Given the description of an element on the screen output the (x, y) to click on. 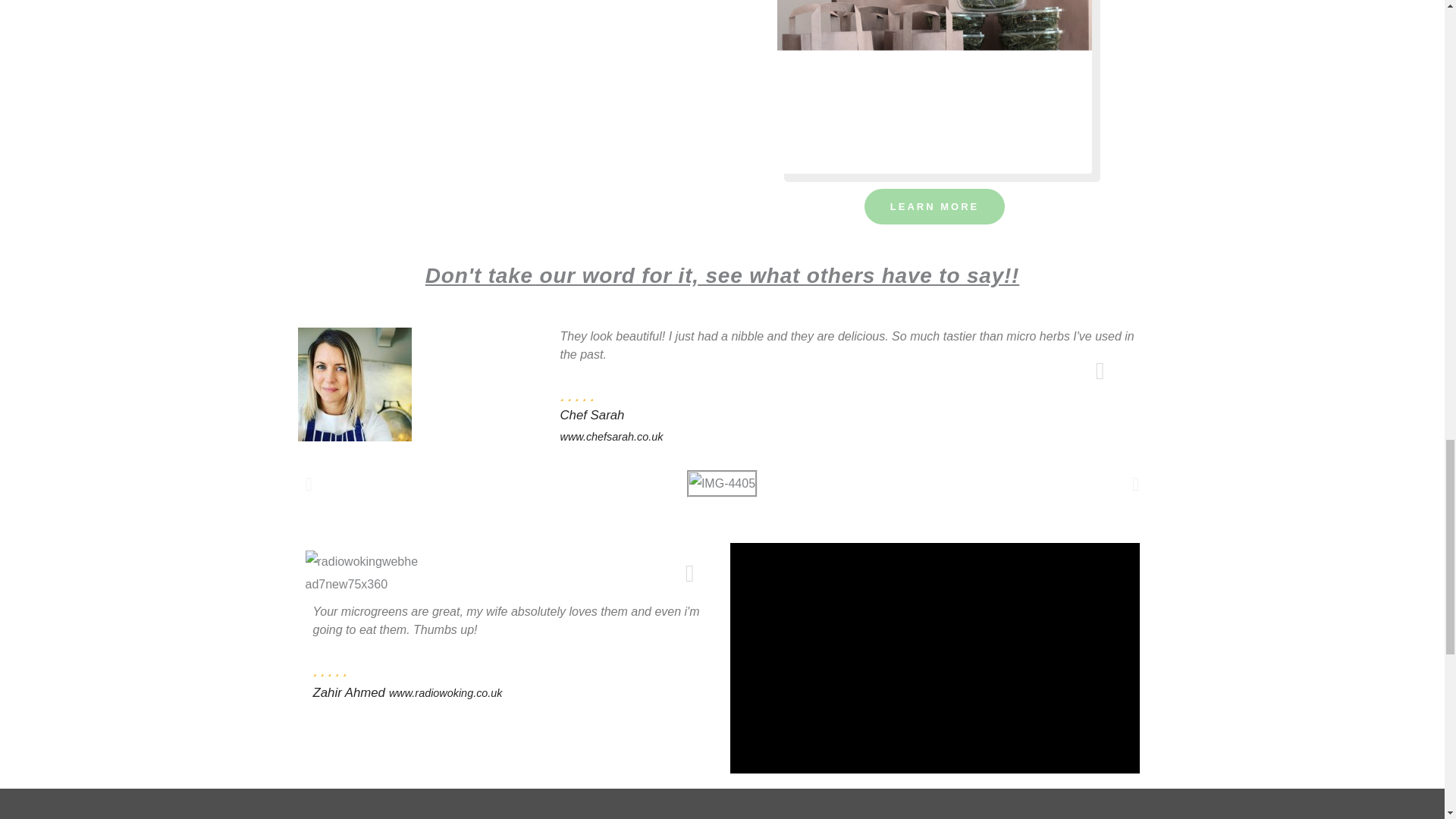
youtube Video Player (933, 657)
LEARN MORE (934, 206)
radiowokingwebhead7new75x360 (361, 572)
